Given the description of an element on the screen output the (x, y) to click on. 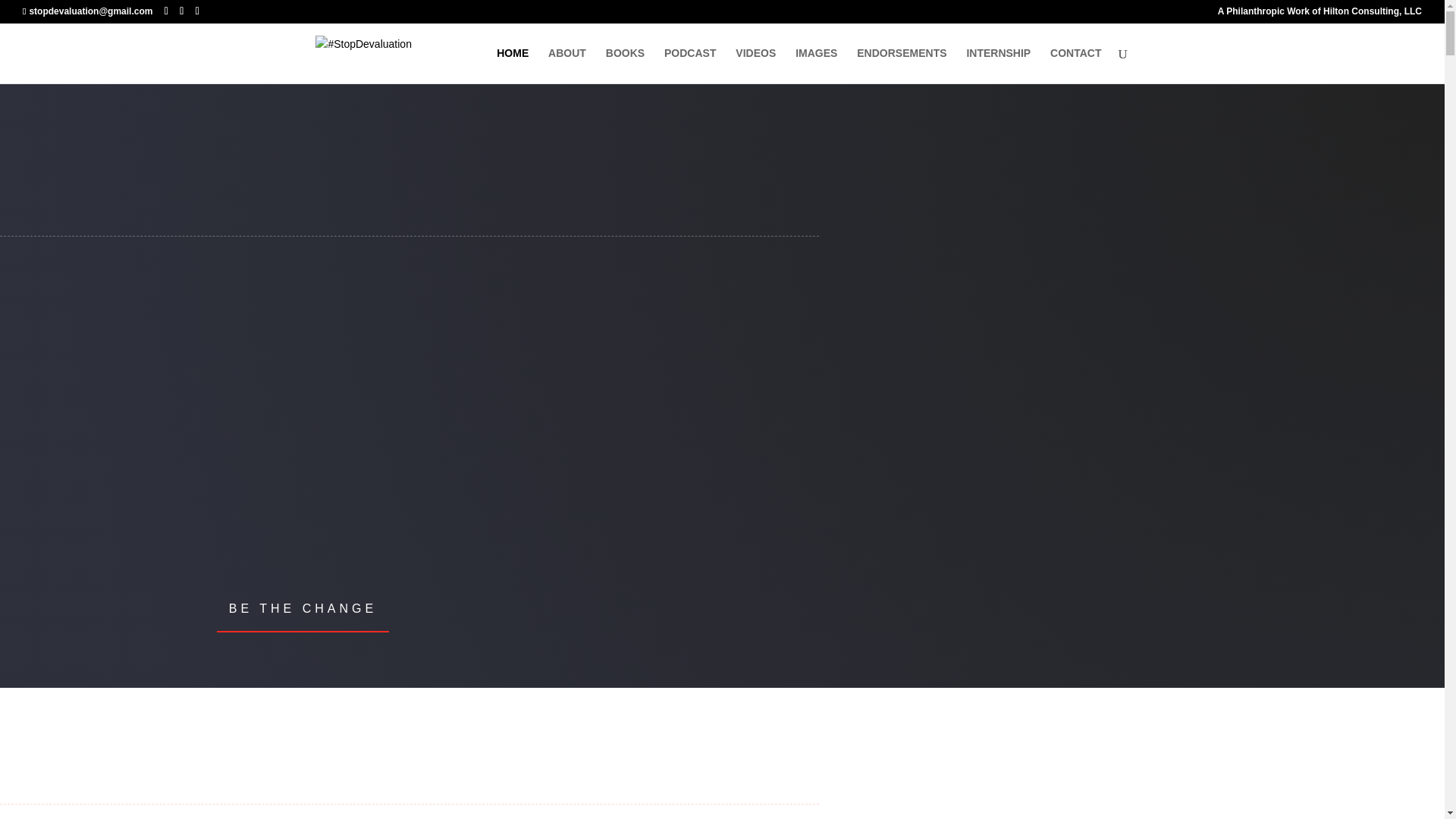
A Philanthropic Work of Hilton Consulting, LLC (1319, 14)
INTERNSHIP (998, 65)
IMAGES (815, 65)
PODCAST (689, 65)
ENDORSEMENTS (901, 65)
VIDEOS (755, 65)
BE THE CHANGE (302, 608)
CONTACT (1074, 65)
ABOUT (567, 65)
HOME (512, 65)
